Given the description of an element on the screen output the (x, y) to click on. 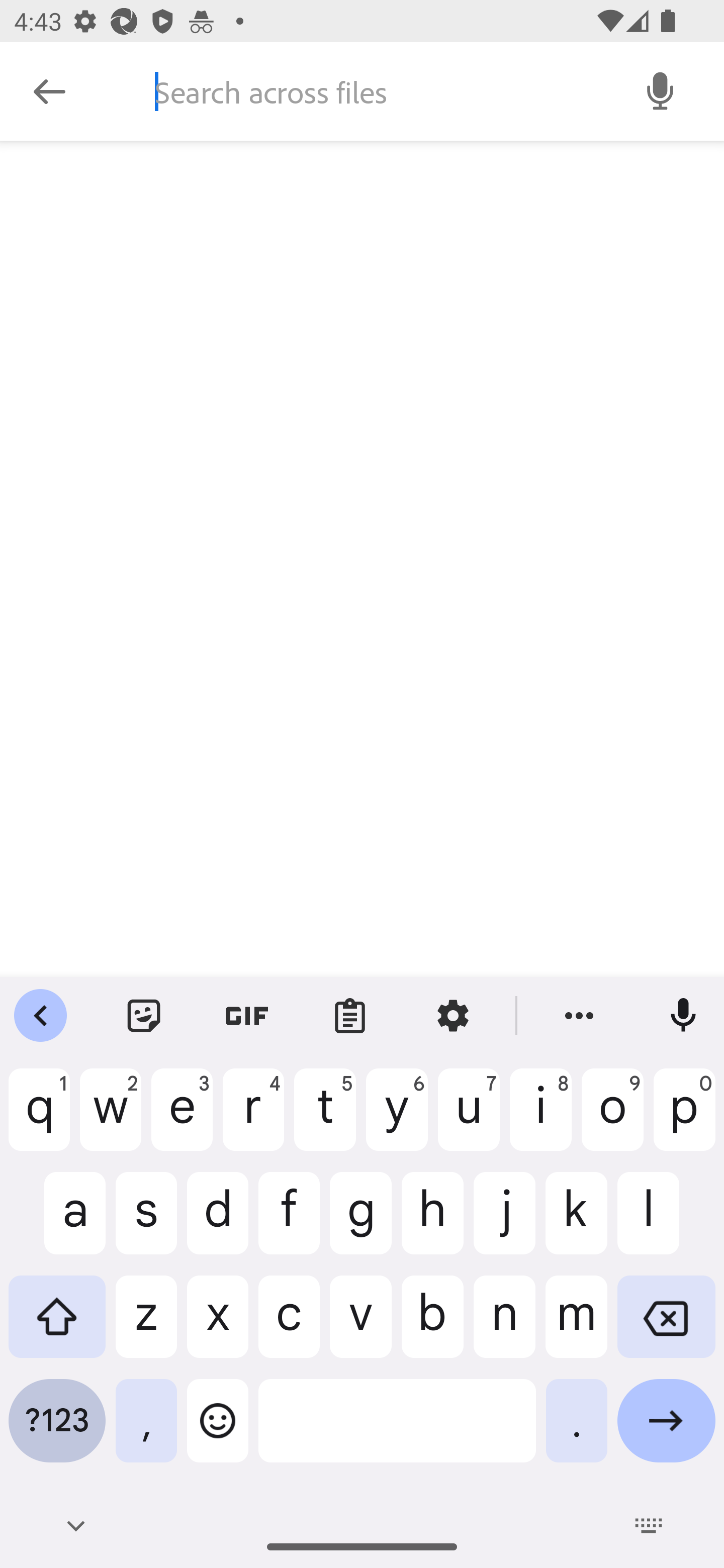
Navigate up (49, 91)
Voice search (660, 90)
Search across files (375, 91)
